Given the description of an element on the screen output the (x, y) to click on. 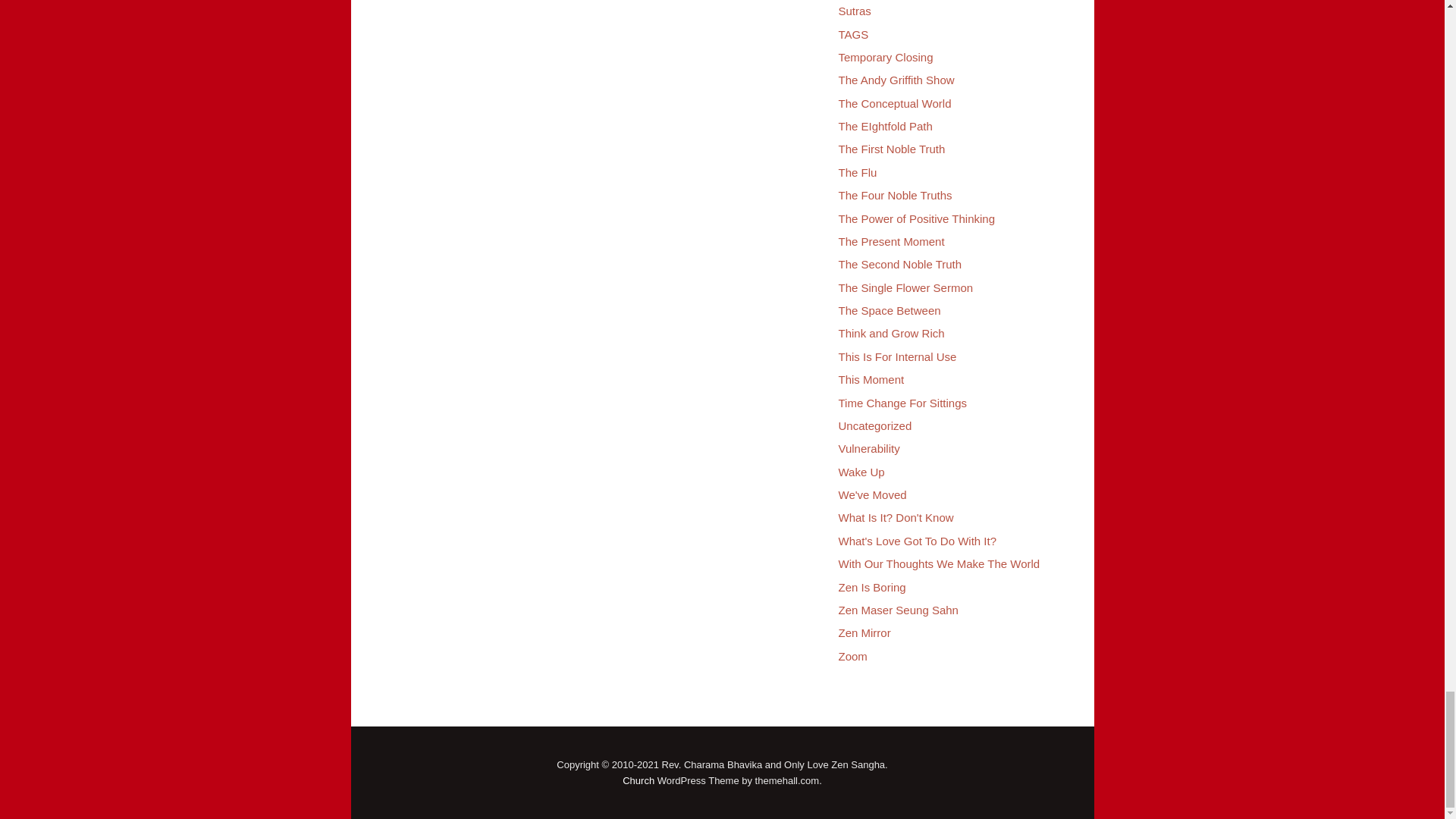
Church WordPress Theme (638, 780)
